Given the description of an element on the screen output the (x, y) to click on. 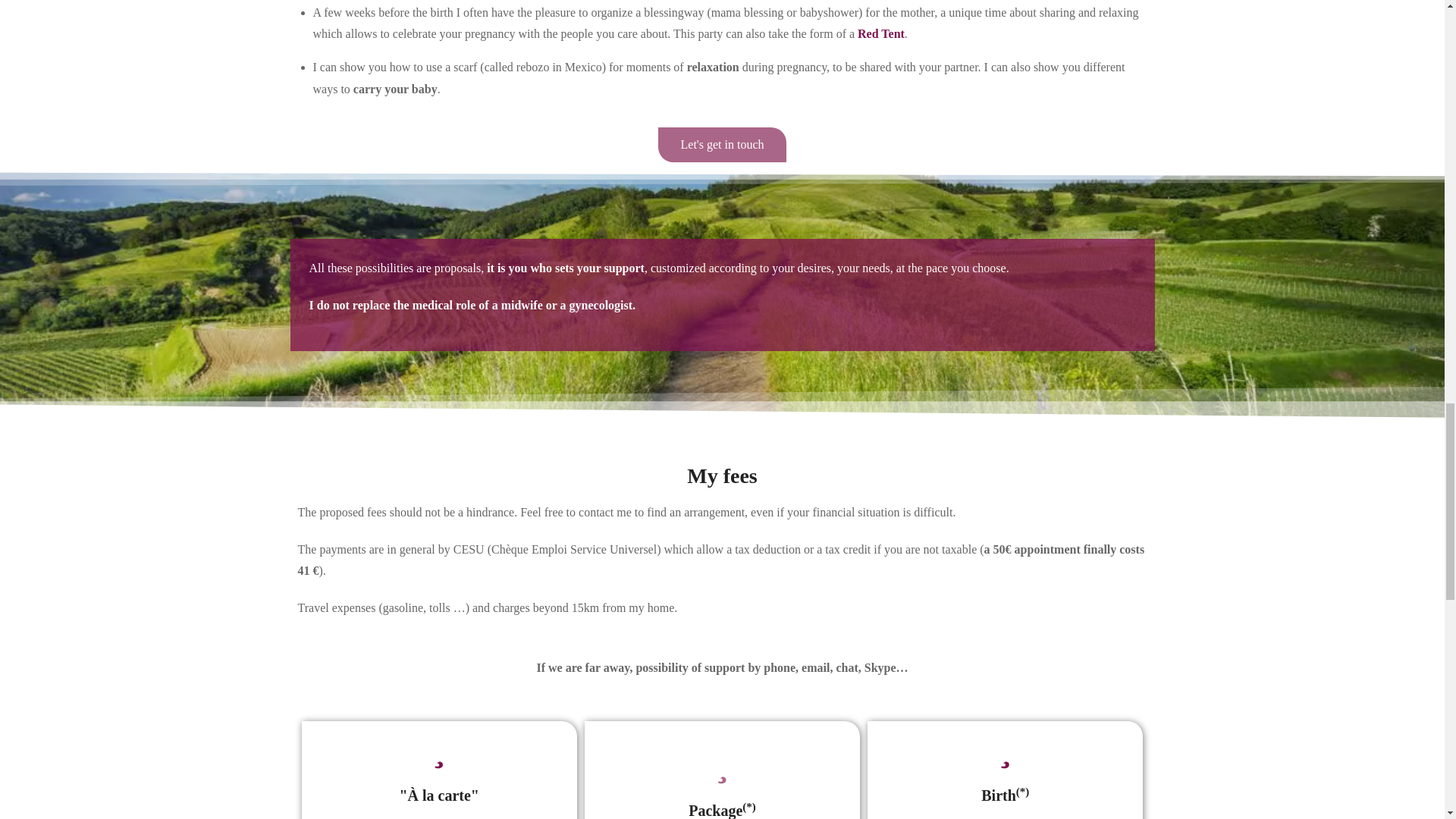
Tentes rouges (880, 33)
Red Tent (880, 33)
Let's get in touch (722, 144)
